Given the description of an element on the screen output the (x, y) to click on. 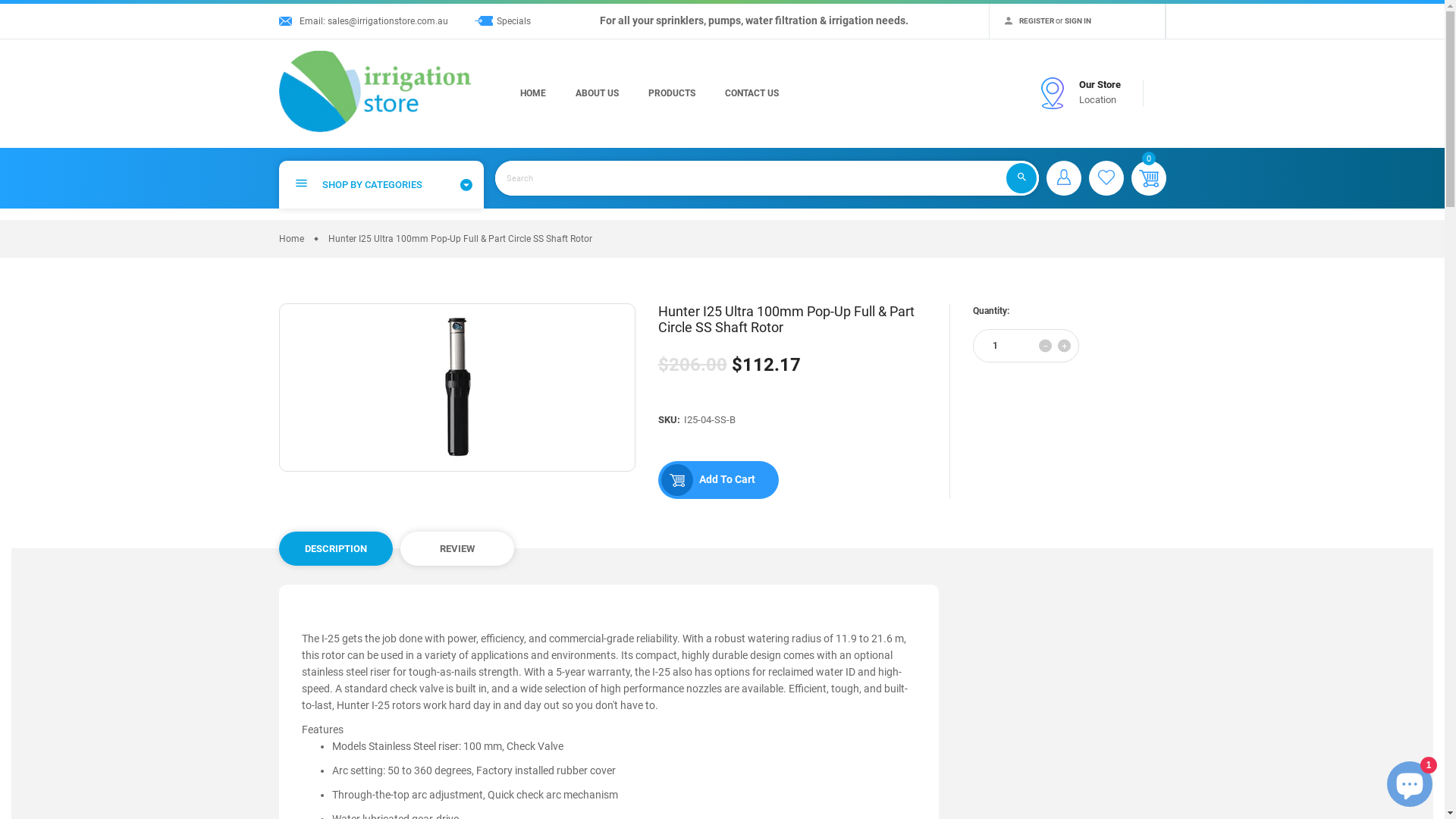
Sign in Element type: hover (1063, 177)
sales@irrigationstore.com.au Element type: text (387, 20)
Home Element type: text (291, 238)
DESCRIPTION Element type: text (335, 548)
ABOUT US Element type: text (596, 93)
SIGN IN Element type: text (1077, 20)
REGISTER Element type: text (1037, 20)
Add To Cart Element type: text (718, 479)
Shopify online store chat Element type: hover (1409, 780)
REVIEW Element type: text (457, 548)
Specials Element type: text (512, 21)
+
Increase item quantity by one Element type: text (1063, 344)
PRODUCTS Element type: text (670, 93)
CONTACT US Element type: text (751, 93)
HOME Element type: text (532, 93)
0 Element type: text (1148, 177)
